Given the description of an element on the screen output the (x, y) to click on. 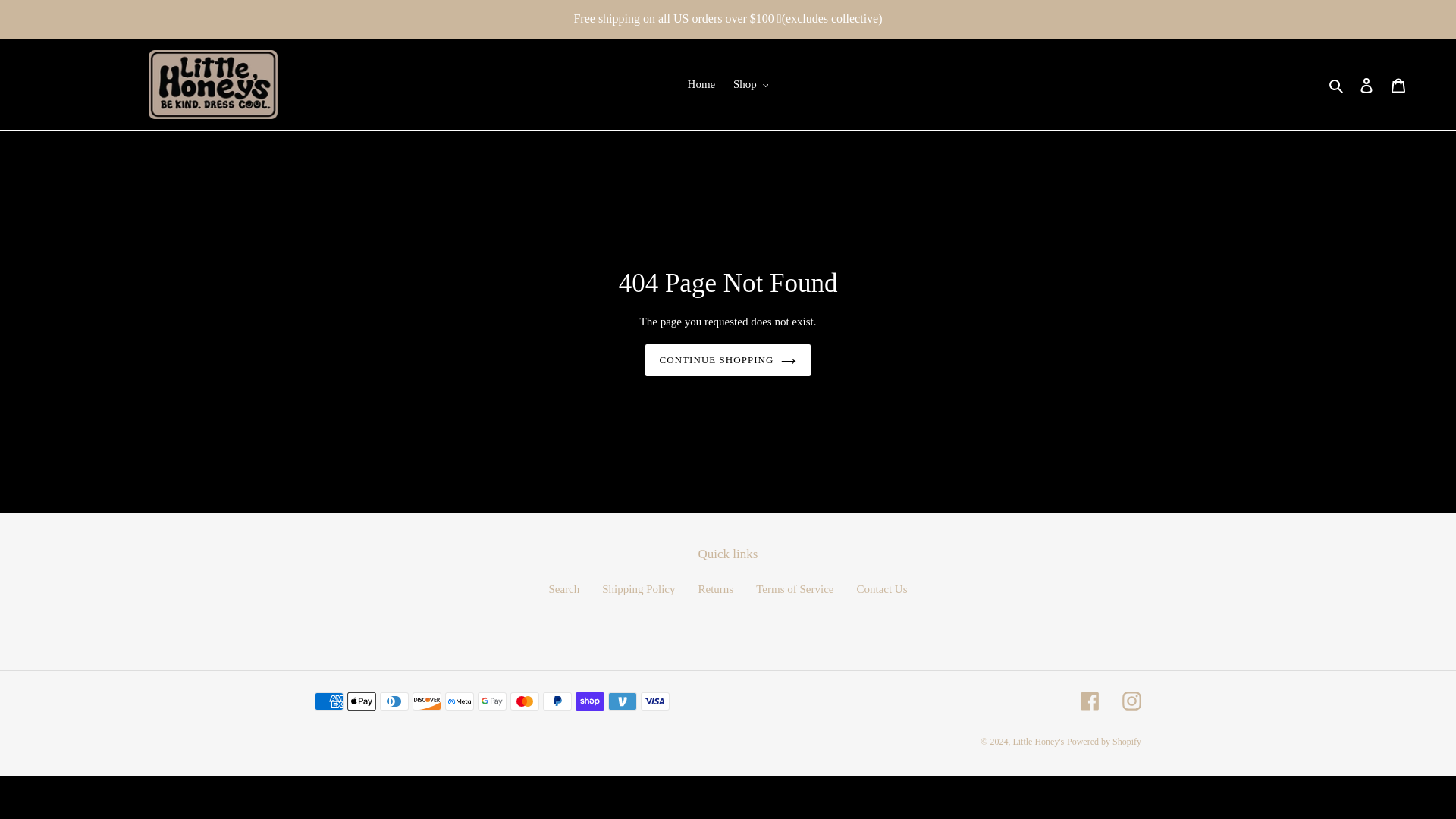
Contact Us (881, 589)
Search (1337, 84)
CONTINUE SHOPPING (727, 359)
Returns (715, 589)
Shipping Policy (638, 589)
Cart (1397, 83)
Home (701, 84)
Shop (750, 84)
Terms of Service (793, 589)
Search (563, 589)
